Given the description of an element on the screen output the (x, y) to click on. 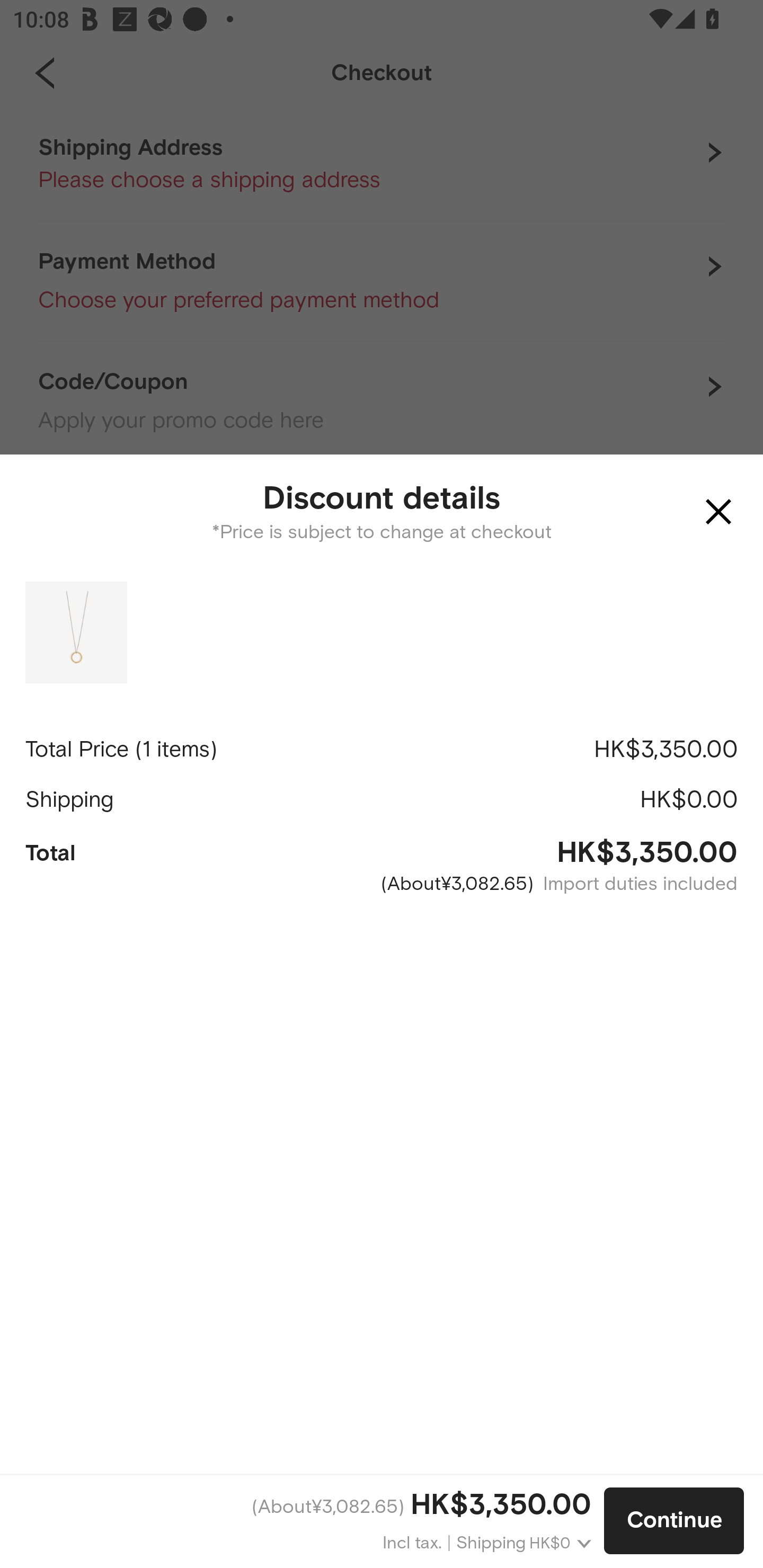
Continue (673, 1520)
